Given the description of an element on the screen output the (x, y) to click on. 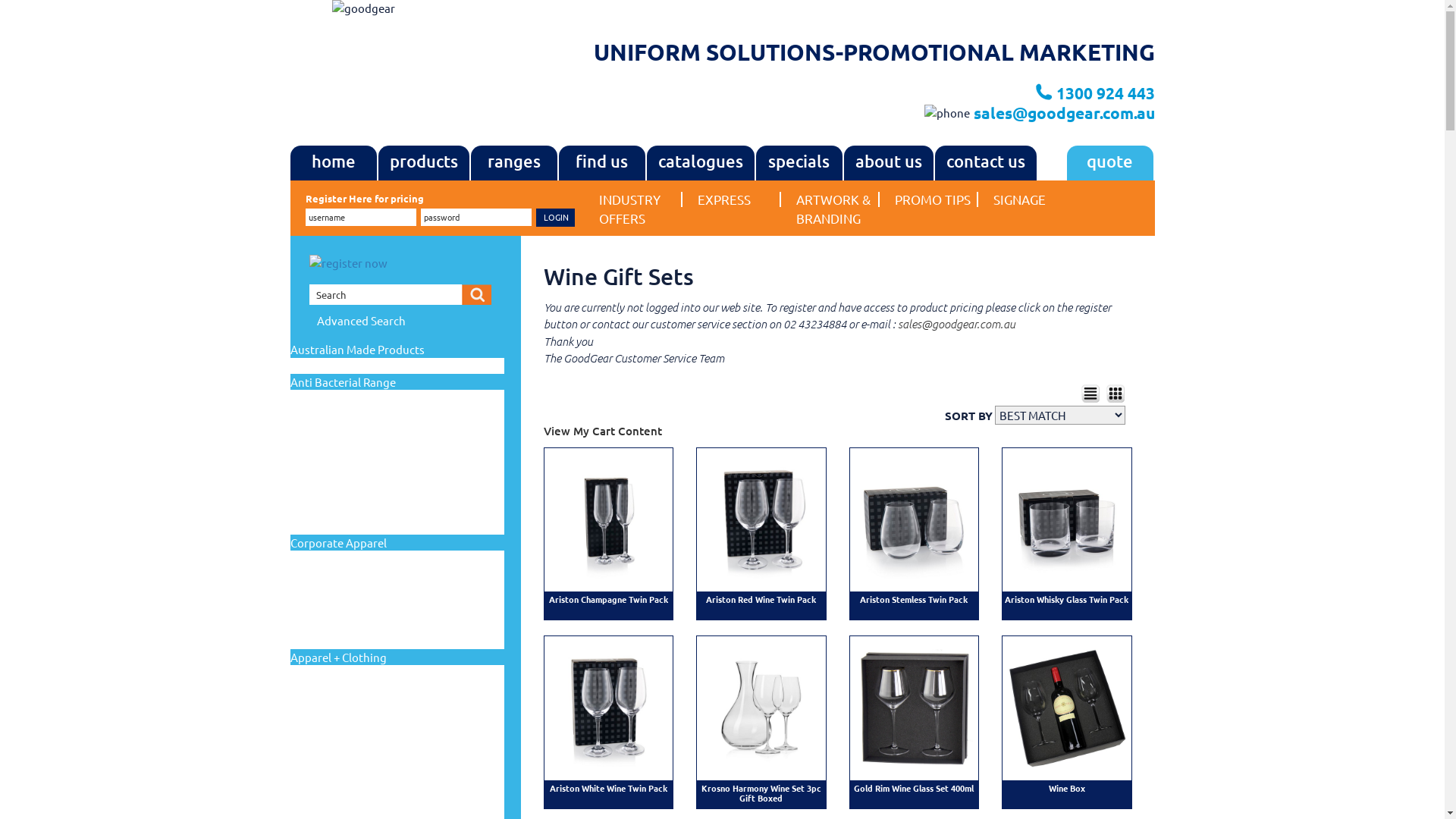
ranges Element type: text (513, 162)
Hygiene Keys Element type: text (321, 457)
Face Masks Element type: text (318, 399)
contact us Element type: text (984, 162)
Tops Element type: text (305, 642)
sales@goodgear.com.au Element type: text (956, 323)
Login Element type: text (554, 217)
Lab Coats Element type: text (315, 803)
Hot & Cold Packs Element type: text (330, 446)
Thumb View Element type: hover (1115, 391)
Knitwear Element type: text (313, 791)
Lab Coats Element type: text (315, 470)
First Aid Kits Element type: text (321, 423)
sales@goodgear.com.au Element type: text (1063, 112)
find us Element type: text (601, 162)
Ariston Stemless Twin Pack (4237550TP_PPI) Element type: hover (914, 519)
Hoodies Element type: text (312, 768)
Detailed View Element type: hover (1090, 391)
Corporate Jackets Element type: text (332, 709)
Corporate Pants Element type: text (328, 721)
Ariston Whisky Glass Twin Pack (1605390TP_PPI) Element type: hover (1066, 519)
Hand Sanitisers Element type: text (326, 434)
Ariston Red Wine Twin Pack Element type: text (760, 599)
EXPRESS Element type: text (738, 198)
products Element type: text (422, 162)
catalogues Element type: text (699, 162)
Ariston Whisky Glass Twin Pack Element type: text (1066, 599)
Skirts Element type: text (307, 618)
Gold Rim Wine Glass Set 400ml (1791_NOTT) Element type: hover (914, 707)
Boots and Shoes Element type: text (328, 674)
Ariston Red Wine Twin Pack (4735530TP_PPI) Element type: hover (760, 519)
Ariston White Wine Twin Pack (4735380TP_PPI) Element type: hover (608, 707)
Corporate Shorts Element type: text (329, 583)
Krosno Harmony Wine Set 3pc Gift Boxed Element type: text (761, 792)
View My Cart Content Element type: text (602, 430)
Ariston Stemless Twin Pack Element type: text (913, 599)
Advanced Search Element type: text (360, 320)
home Element type: text (332, 162)
Ariston Champagne Twin Pack Element type: text (608, 599)
Ties Element type: text (303, 630)
1300 924 443 Element type: text (1104, 92)
Hi-Vis Fleecy Tops Element type: text (331, 756)
Corporate Pants Element type: text (328, 572)
Business Shirts Element type: text (324, 686)
Gold Rim Wine Glass Set 400ml Element type: text (913, 787)
Chef wear Element type: text (315, 698)
Fleecy Tops Element type: text (318, 744)
Corporate Jackets Element type: text (332, 560)
Australian Made Element type: text (328, 366)
Krosno Harmony Wine Set 3pc Gift Boxed (KR0270_PPI) Element type: hover (760, 707)
Thermometers Element type: text (324, 504)
ARTWORK & BRANDING Element type: text (837, 208)
Personal Protection Screens Element type: text (350, 481)
quote Element type: text (1109, 162)
specials Element type: text (798, 162)
Jackets Element type: text (310, 779)
about us Element type: text (887, 162)
INDUSTRY OFFERS Element type: text (639, 208)
Face Shields Element type: text (319, 411)
Wine Box Element type: text (1066, 787)
Ariston White Wine Twin Pack Element type: text (608, 787)
Knitwear Element type: text (313, 607)
PROMO TIPS Element type: text (935, 198)
Dresses Element type: text (310, 595)
SIGNAGE Element type: text (1034, 198)
Dresses Element type: text (310, 733)
Ariston Champagne Twin Pack (4735205TP_PPI) Element type: hover (608, 519)
Wet Wipes Element type: text (317, 528)
Register Here for pricing Element type: text (363, 197)
Safety Goggles Element type: text (325, 492)
Wellness Packs Element type: text (324, 516)
Wine Box (1790_NOTT) Element type: hover (1066, 707)
